Given the description of an element on the screen output the (x, y) to click on. 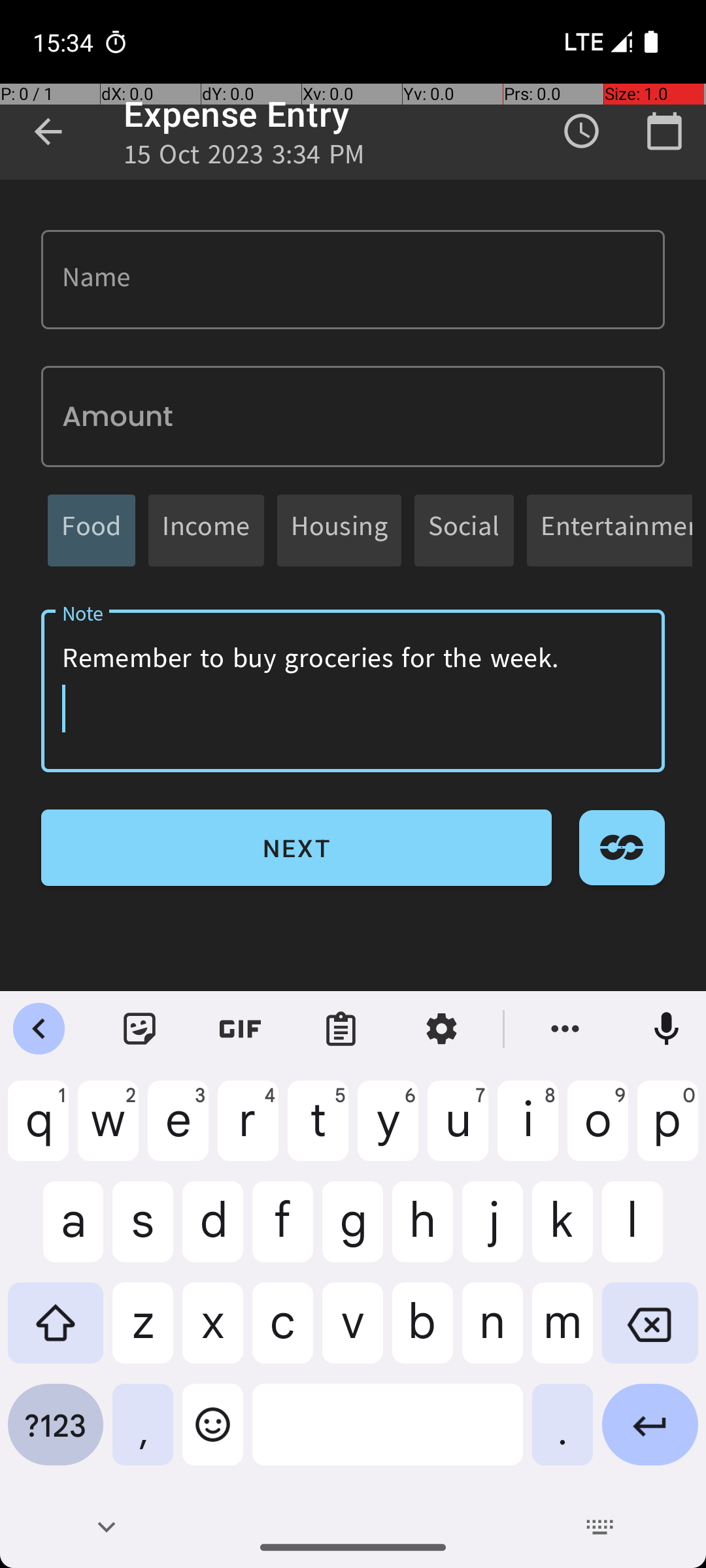
Remember to buy groceries for the week.
 Element type: android.widget.EditText (352, 690)
NEXT Element type: android.widget.Button (296, 847)
